Given the description of an element on the screen output the (x, y) to click on. 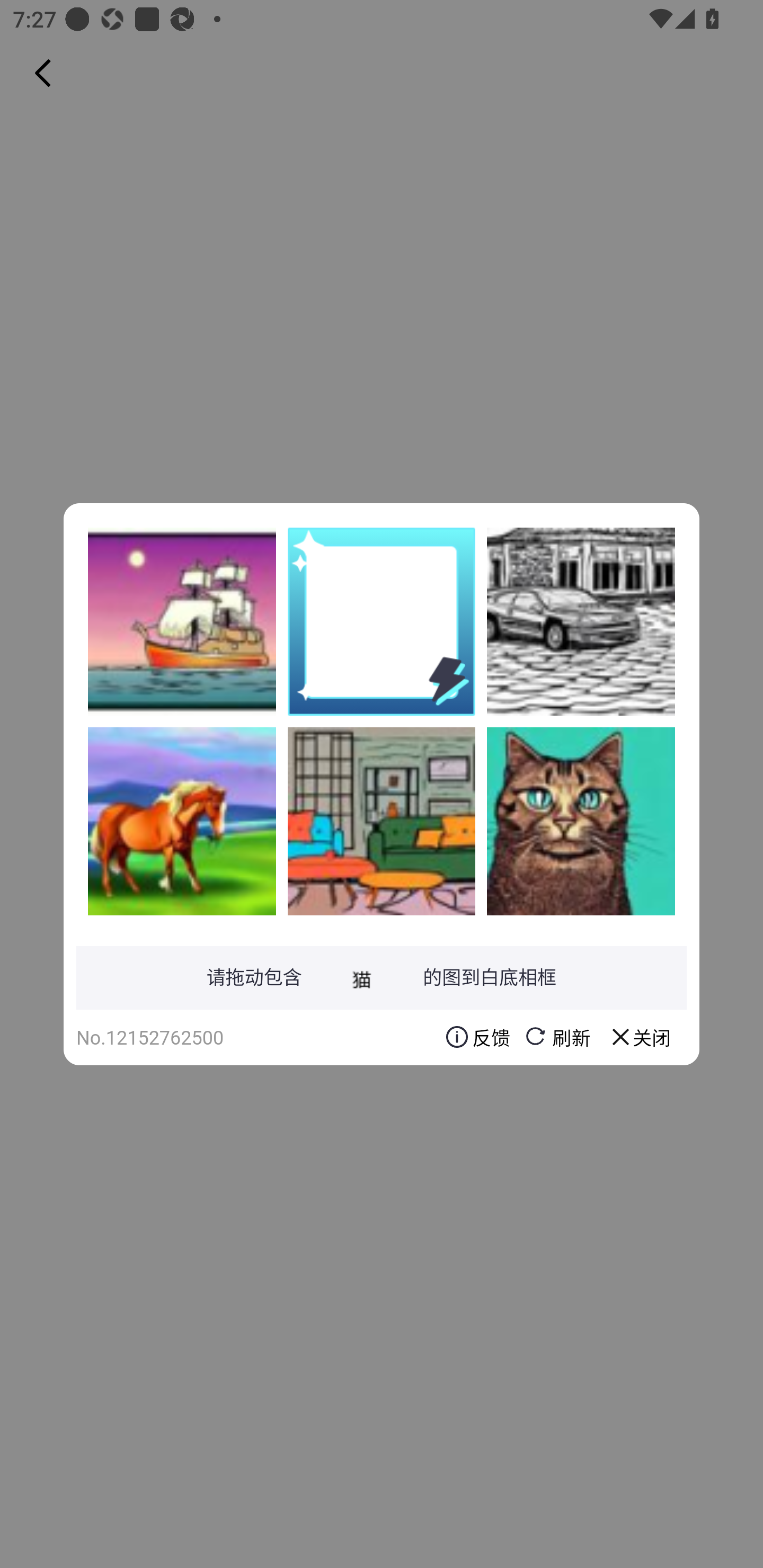
nQvo1wXGYGtTQTBSnxSAwJQH (181, 621)
4lJLkdOmGG5NiuLawo (181, 820)
